Given the description of an element on the screen output the (x, y) to click on. 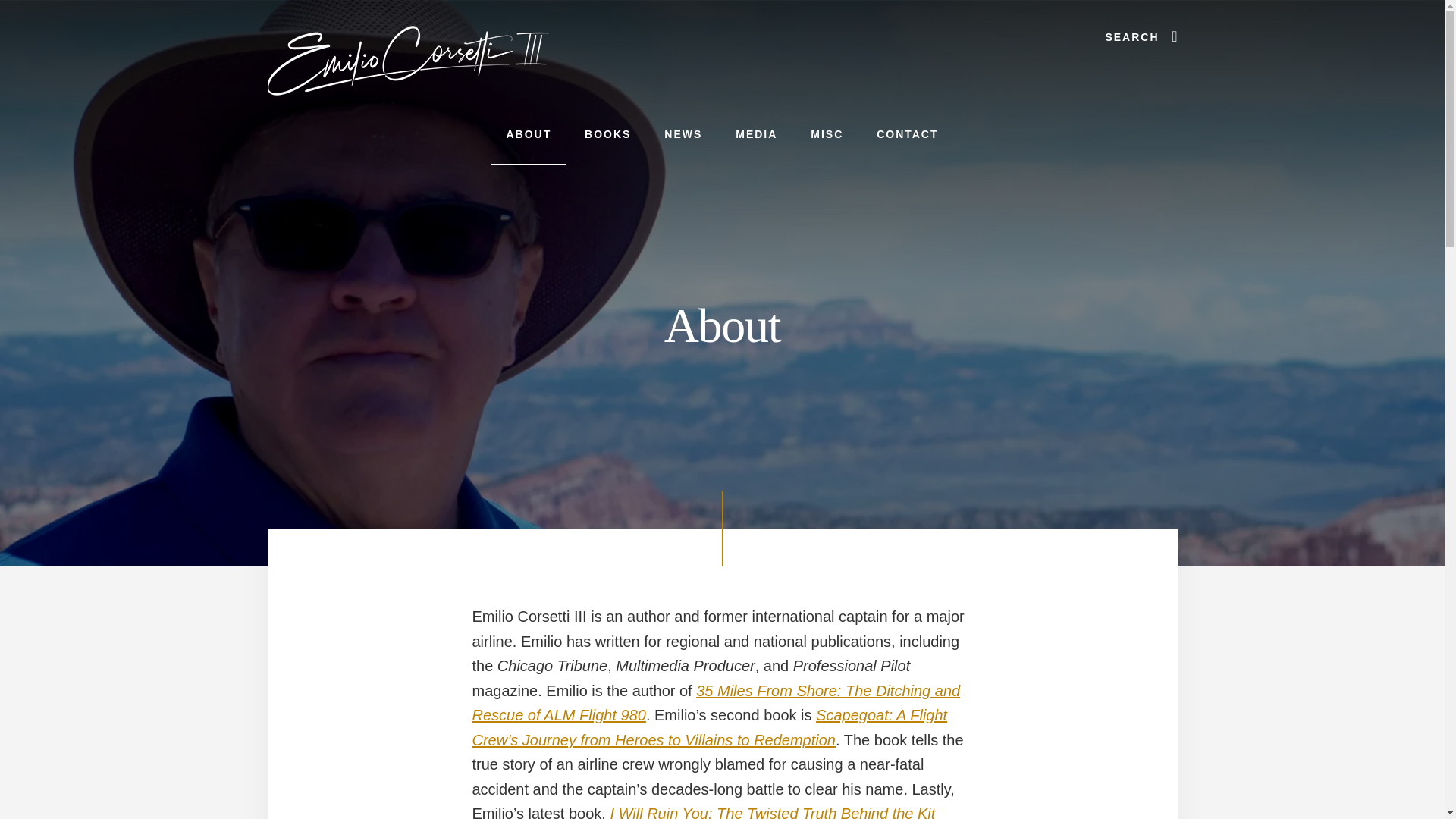
ABOUT (528, 134)
NEWS (683, 134)
BOOKS (607, 134)
